Given the description of an element on the screen output the (x, y) to click on. 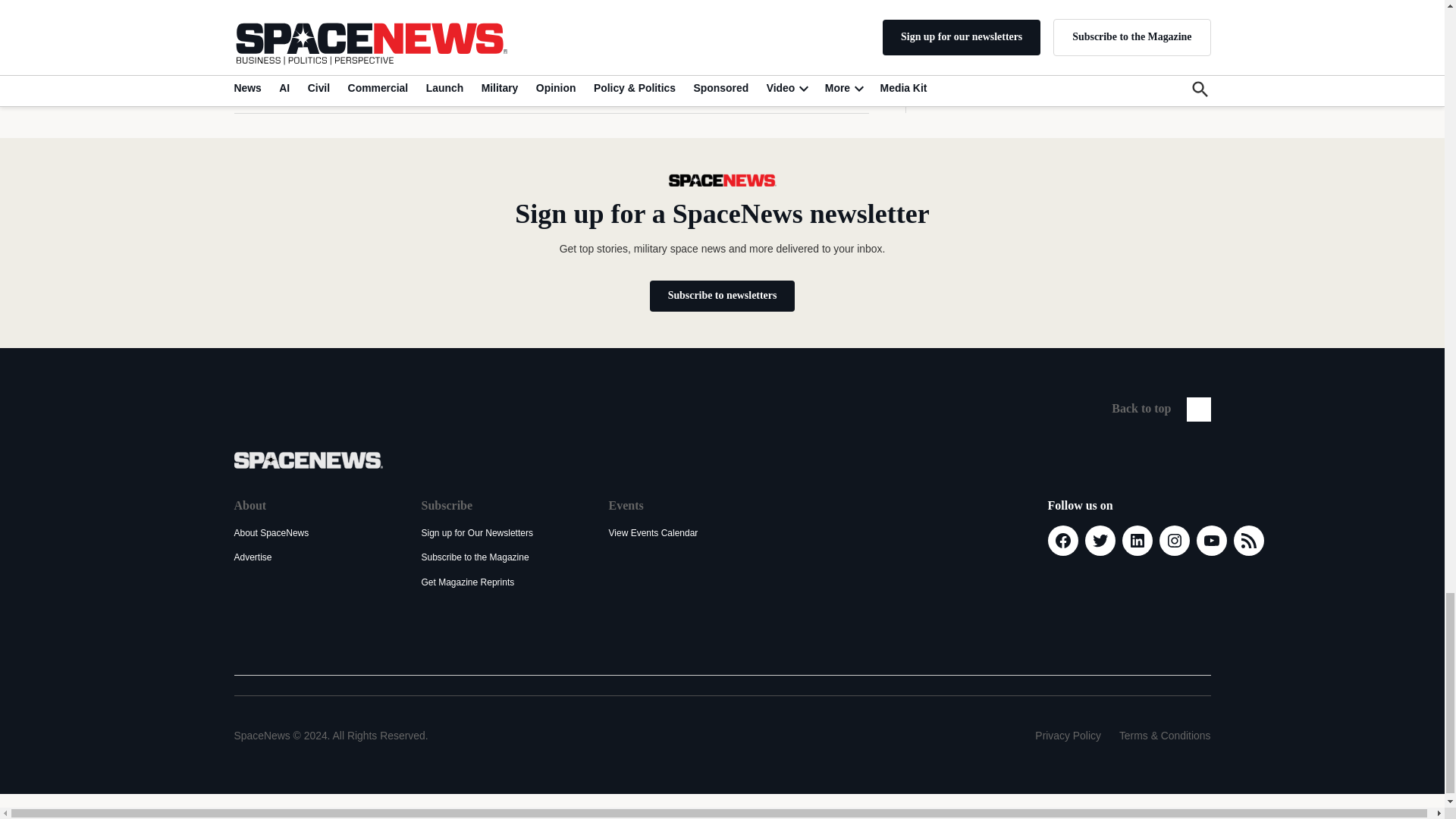
Click to share on Reddit (352, 79)
Click to email a link to a friend (386, 79)
Click to share on LinkedIn (319, 79)
Click to share on Facebook (286, 79)
Click to share on Clipboard (419, 80)
Click to share on X (253, 79)
